Given the description of an element on the screen output the (x, y) to click on. 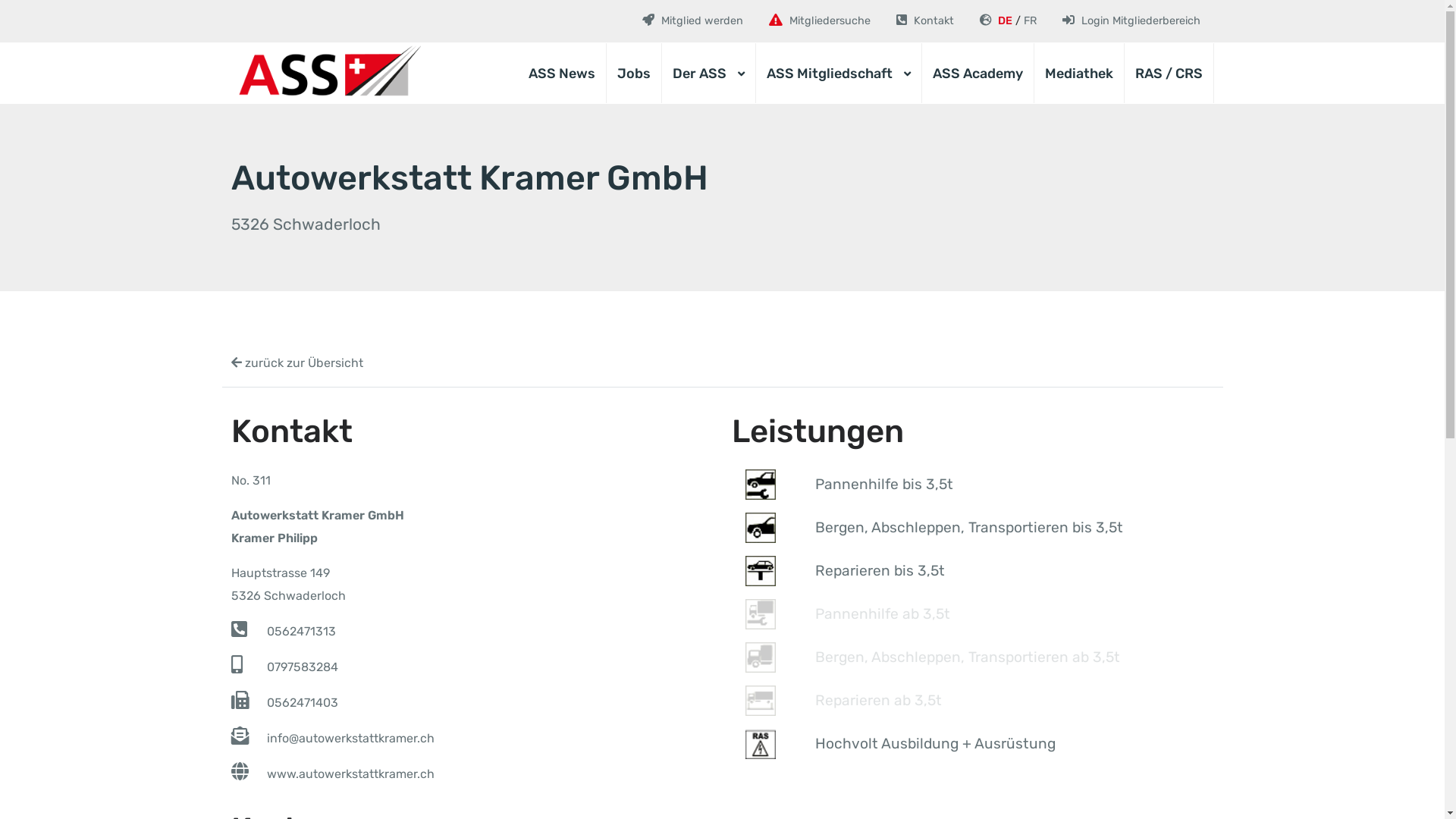
Mediathek Element type: text (1078, 73)
FR Element type: text (1029, 20)
Homepage Element type: hover (325, 72)
Mitglied werden Element type: text (692, 20)
Der ASS Element type: text (707, 73)
Mitgliedersuche Element type: text (819, 20)
ASS News Element type: text (561, 73)
ASS Academy Element type: text (977, 73)
Kontakt Element type: text (924, 20)
RAS / CRS Element type: text (1167, 73)
www.autowerkstattkramer.ch Element type: text (350, 773)
info@autowerkstattkramer.ch Element type: text (350, 738)
Jobs Element type: text (633, 73)
ASS Mitgliedschaft Element type: text (837, 73)
Login Mitgliederbereich Element type: text (1131, 20)
